Given the description of an element on the screen output the (x, y) to click on. 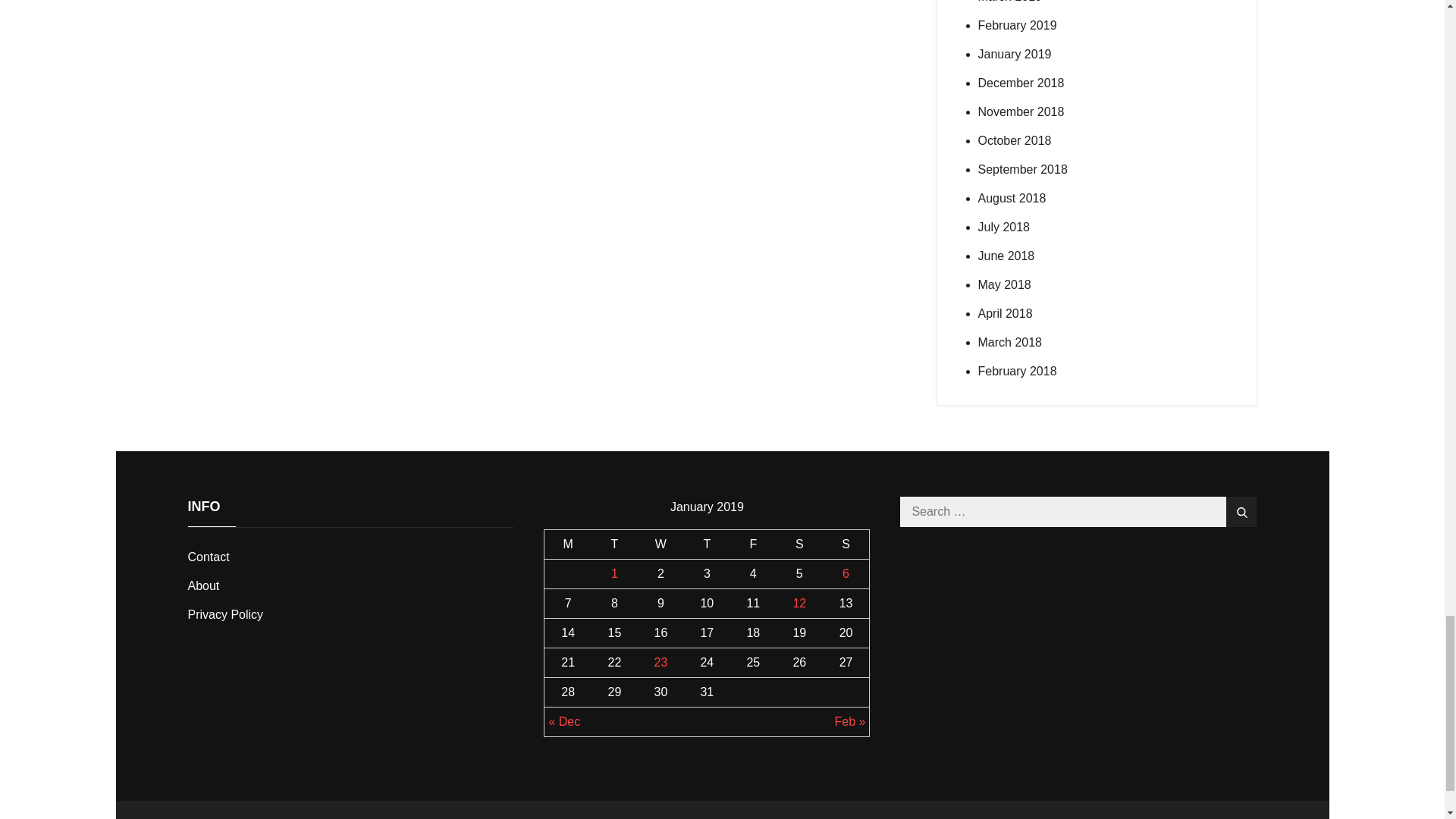
Monday (567, 543)
Wednesday (660, 543)
Sunday (845, 543)
Thursday (707, 543)
Tuesday (614, 543)
Saturday (799, 543)
Friday (753, 543)
